Given the description of an element on the screen output the (x, y) to click on. 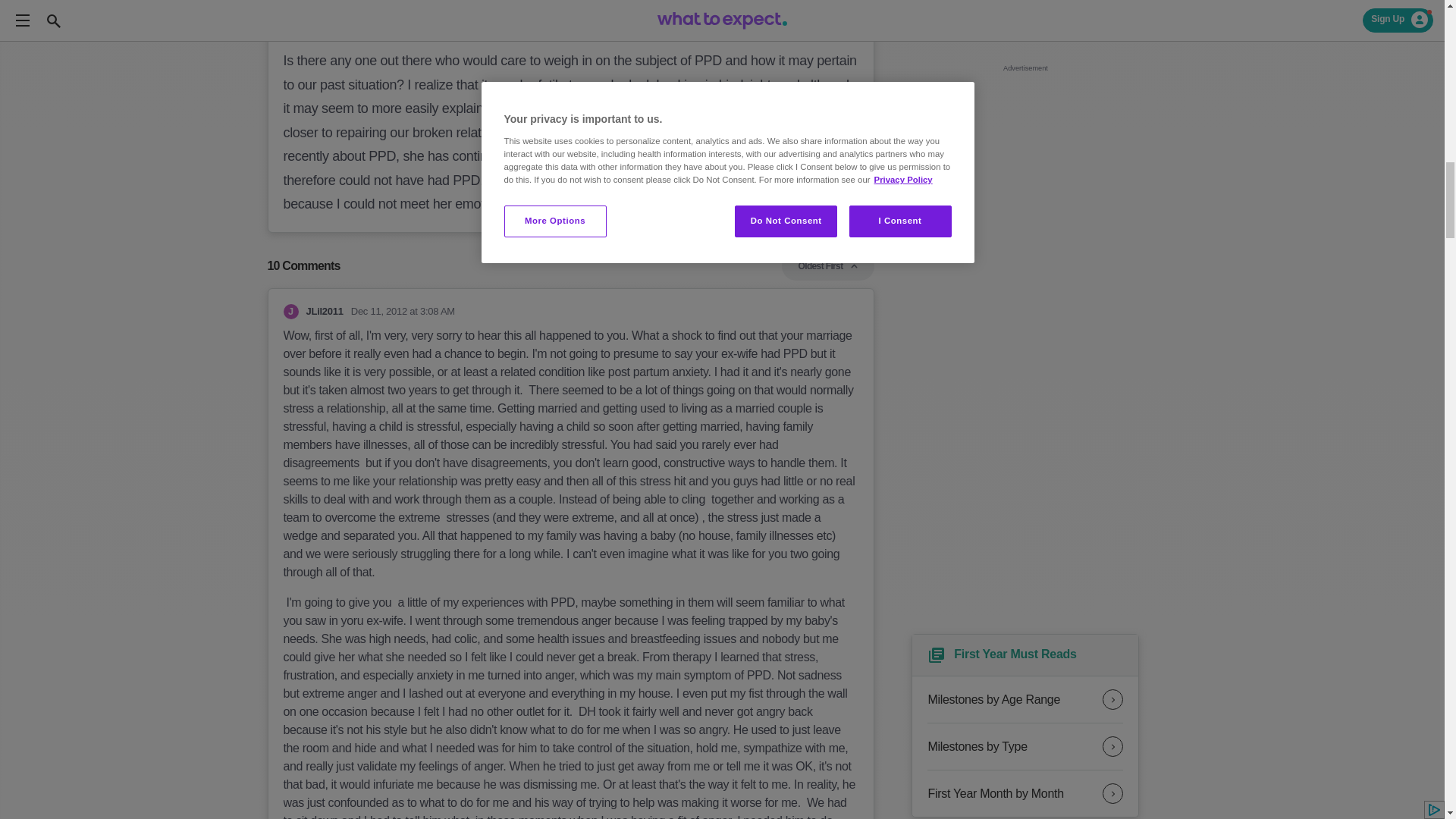
Milestones by Type (1024, 746)
Milestones by Age Range (1024, 699)
First Year Month by Month (1024, 793)
